Given the description of an element on the screen output the (x, y) to click on. 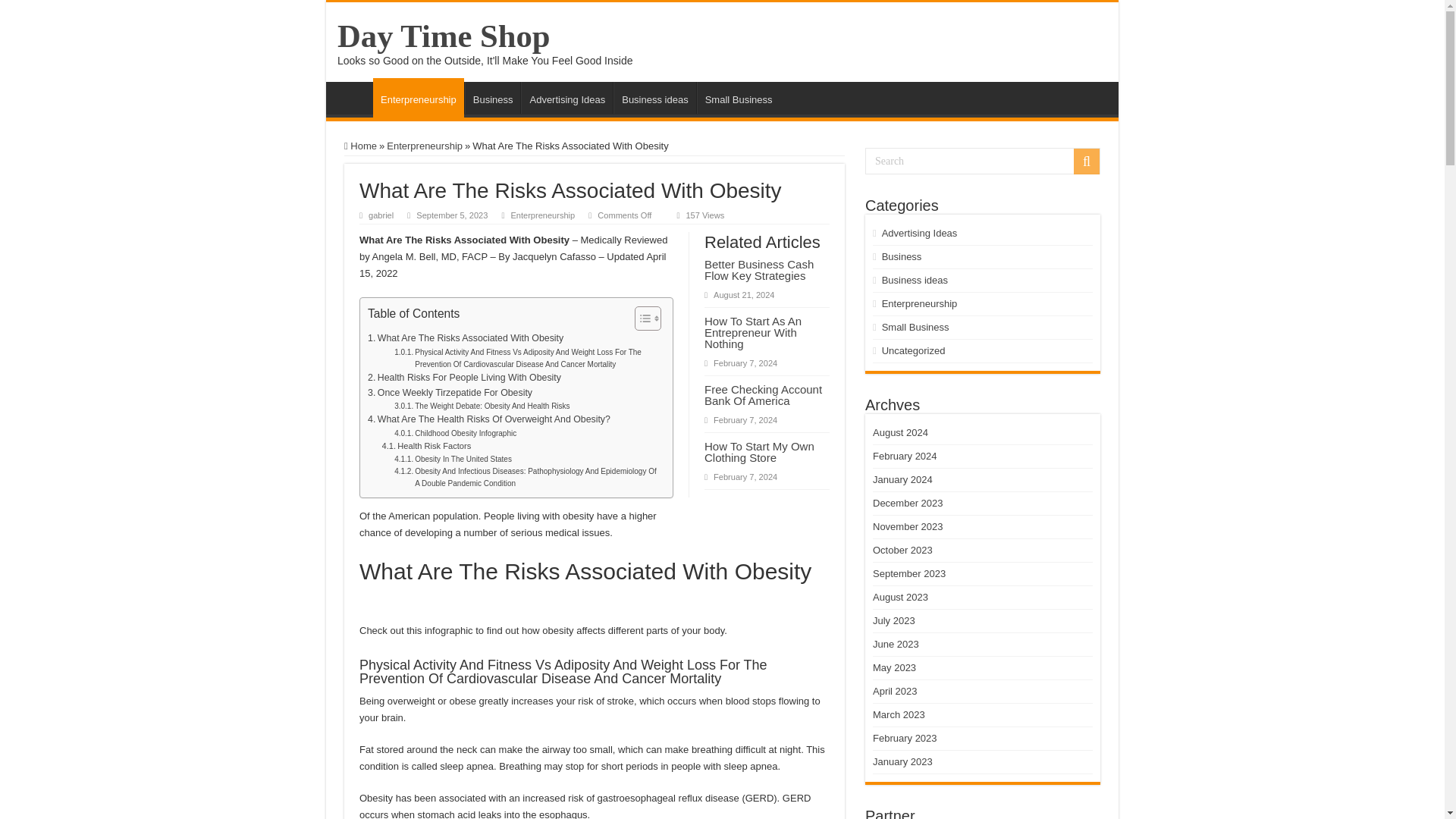
Enterpreneurship (920, 303)
Better Business Cash Flow Key Strategies (758, 269)
Search (1086, 161)
What Are The Health Risks Of Overweight And Obesity? (489, 419)
What Are The Risks Associated With Obesity (465, 338)
Business ideas (653, 97)
Advertising Ideas (920, 233)
Enterpreneurship (418, 97)
